Given the description of an element on the screen output the (x, y) to click on. 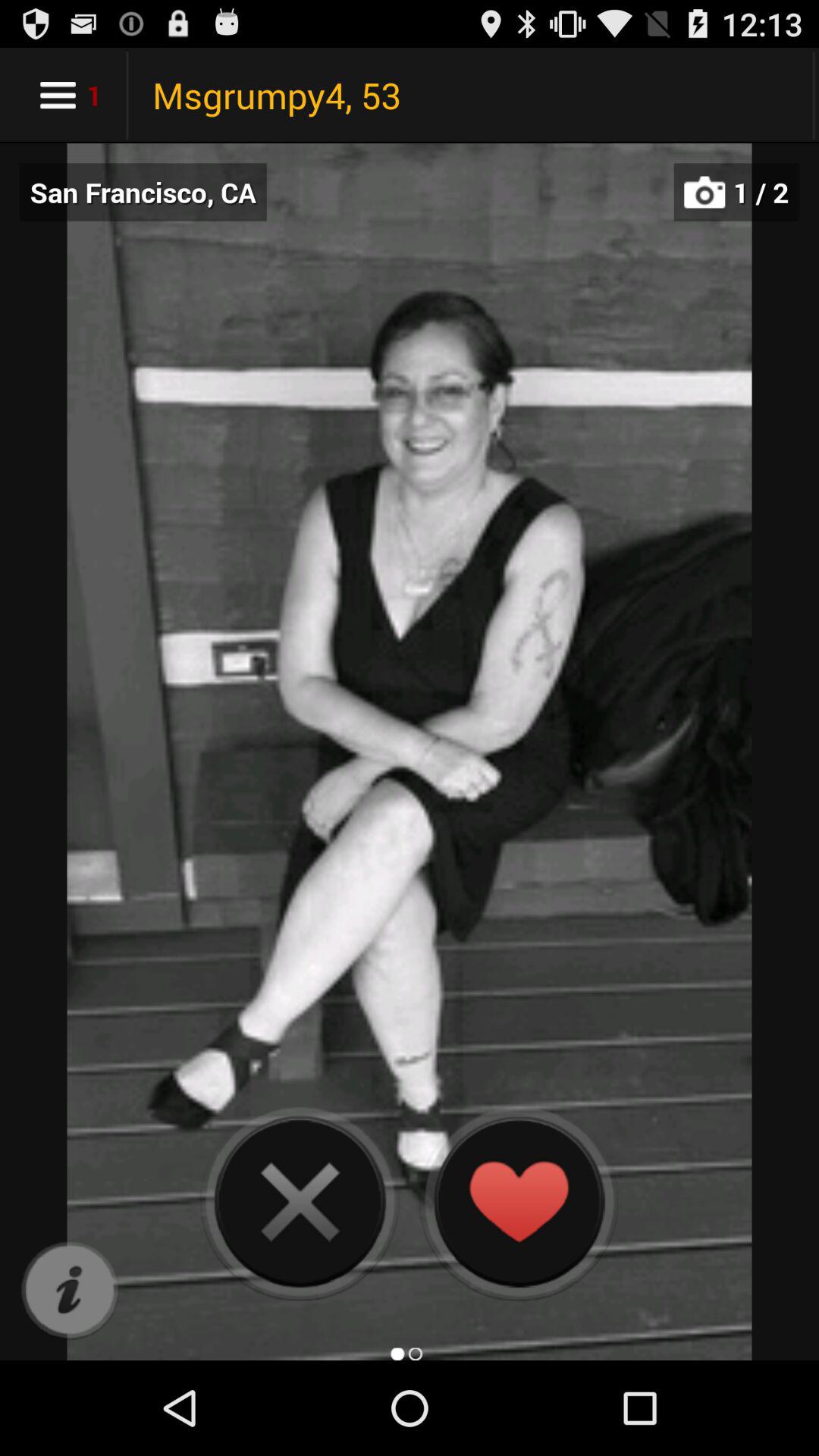
launch button at the bottom left corner (69, 1290)
